Given the description of an element on the screen output the (x, y) to click on. 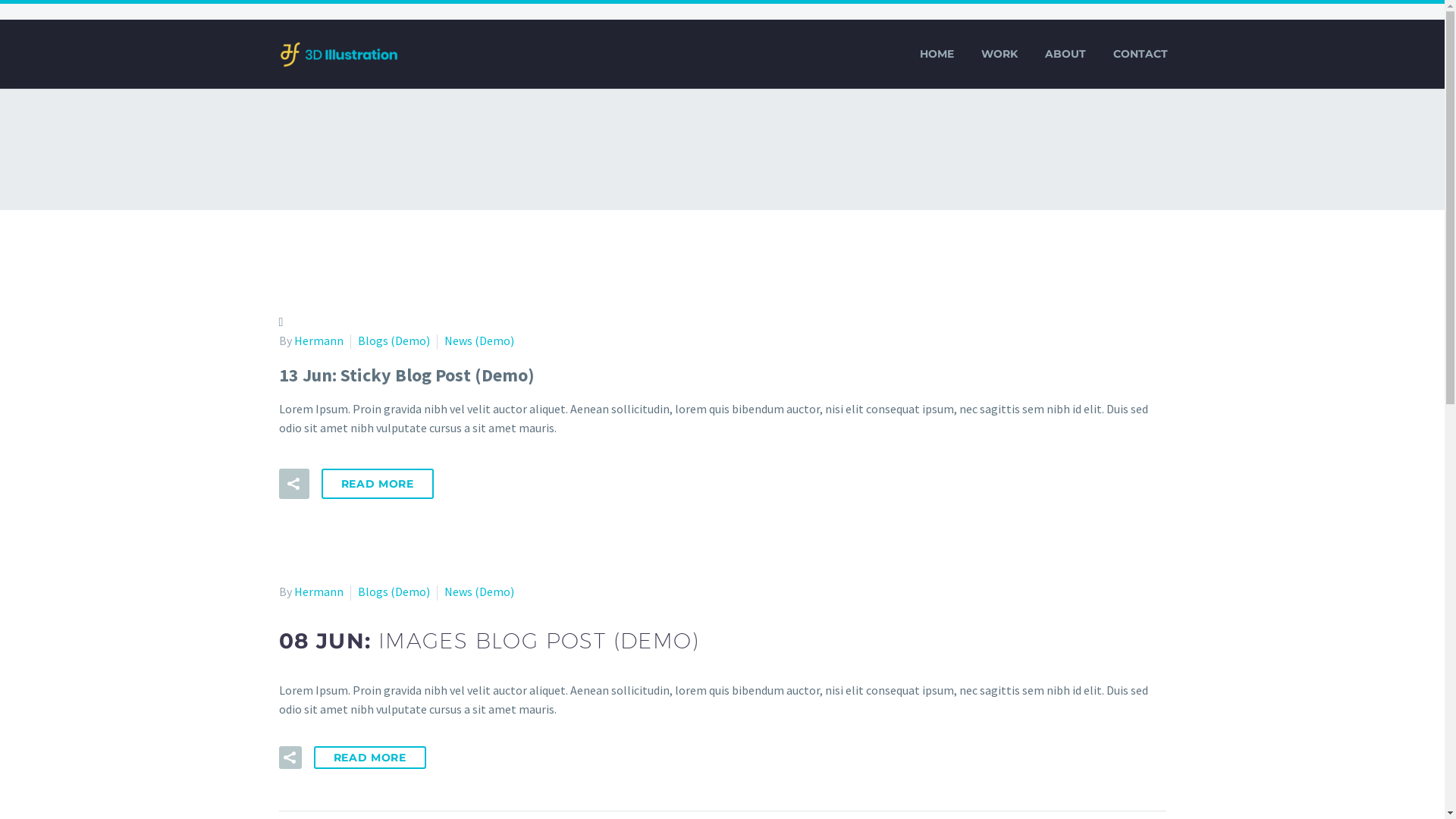
08 JUN: IMAGES BLOG POST (DEMO) Element type: text (489, 640)
WORK Element type: text (998, 53)
News (Demo) Element type: text (479, 591)
READ MORE Element type: text (369, 757)
Hermann Element type: text (318, 340)
Blogs (Demo) Element type: text (393, 591)
13 Jun: Sticky Blog Post (Demo) Element type: text (406, 374)
Hermann Element type: text (318, 591)
Blogs (Demo) Element type: text (393, 340)
HOME Element type: text (936, 53)
ABOUT Element type: text (1064, 53)
CONTACT Element type: text (1139, 53)
READ MORE Element type: text (377, 483)
News (Demo) Element type: text (479, 340)
